Given the description of an element on the screen output the (x, y) to click on. 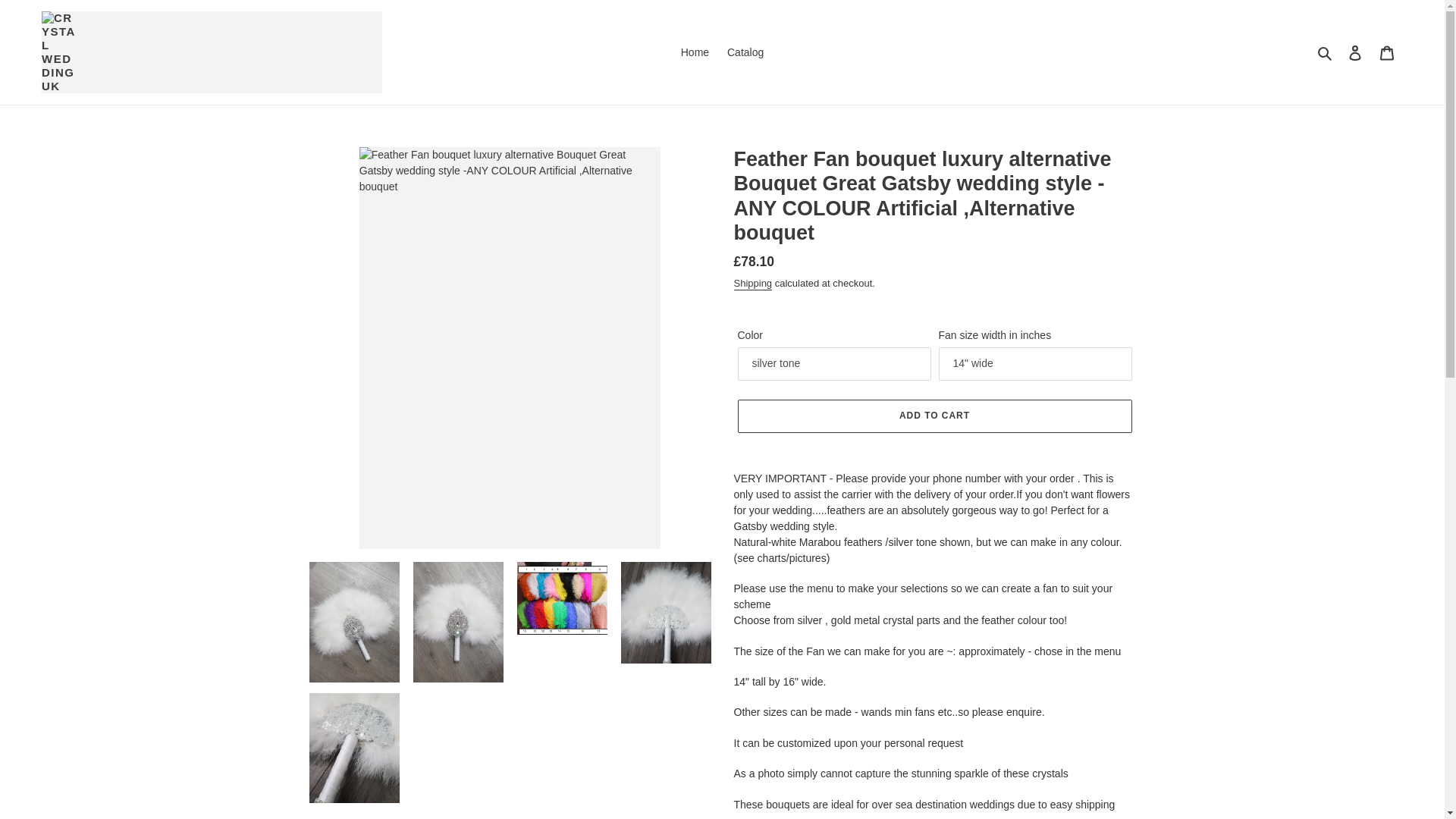
Cart (1387, 29)
Home (694, 28)
Catalog (745, 28)
Log in (1355, 29)
More payment options (933, 447)
ADD TO CART (933, 369)
Shipping (753, 237)
Shopify online store chat (1383, 781)
Search (1326, 28)
